Given the description of an element on the screen output the (x, y) to click on. 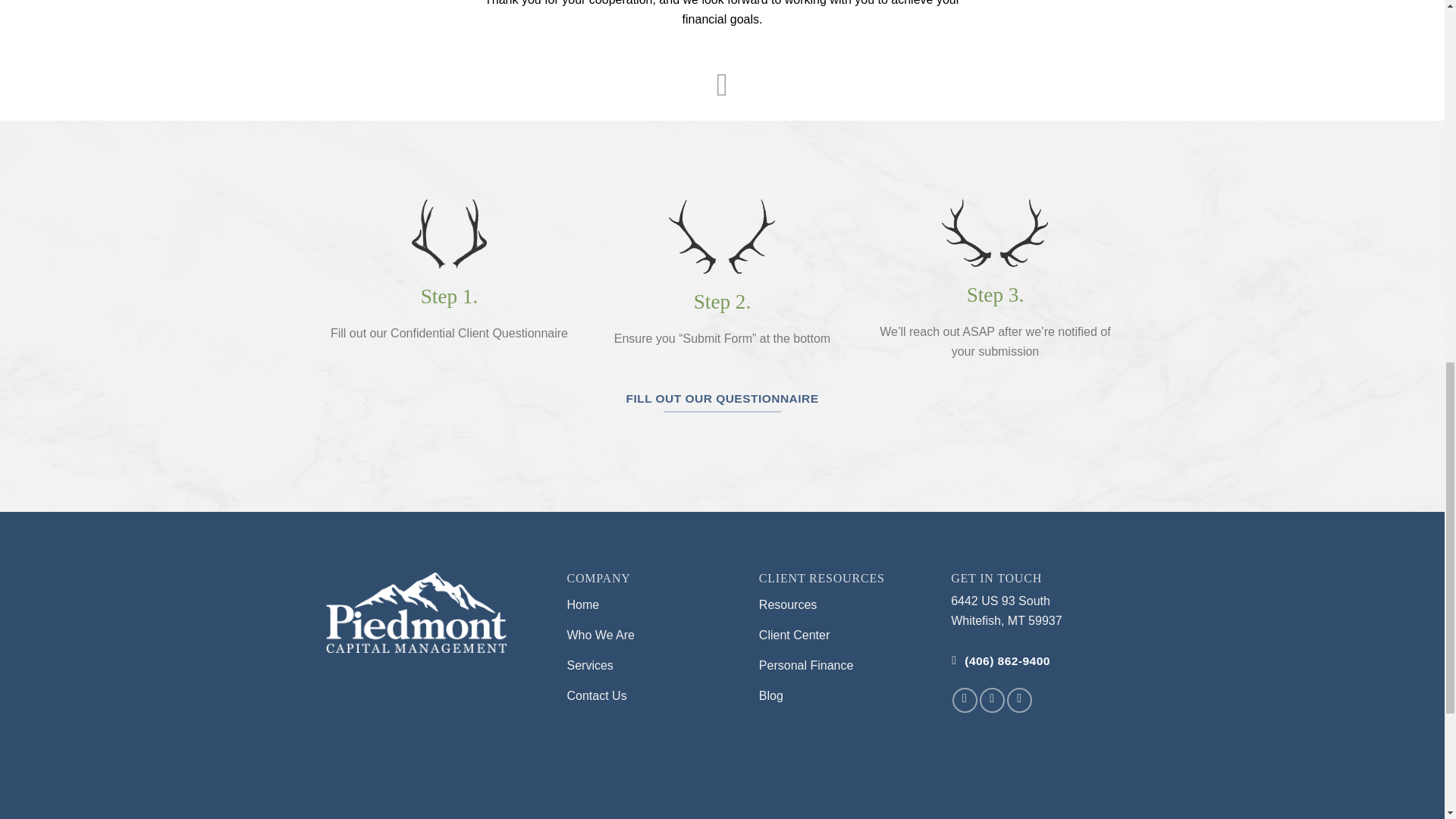
Resources (843, 606)
Services (651, 666)
Personal Finance (843, 666)
Who We Are (651, 636)
Client Center (843, 636)
FILL OUT OUR QUESTIONNAIRE (722, 398)
Contact Us (651, 697)
Home (651, 606)
Follow on Twitter (991, 699)
Follow on Facebook (964, 699)
Follow on LinkedIn (1019, 699)
Blog (843, 697)
